Given the description of an element on the screen output the (x, y) to click on. 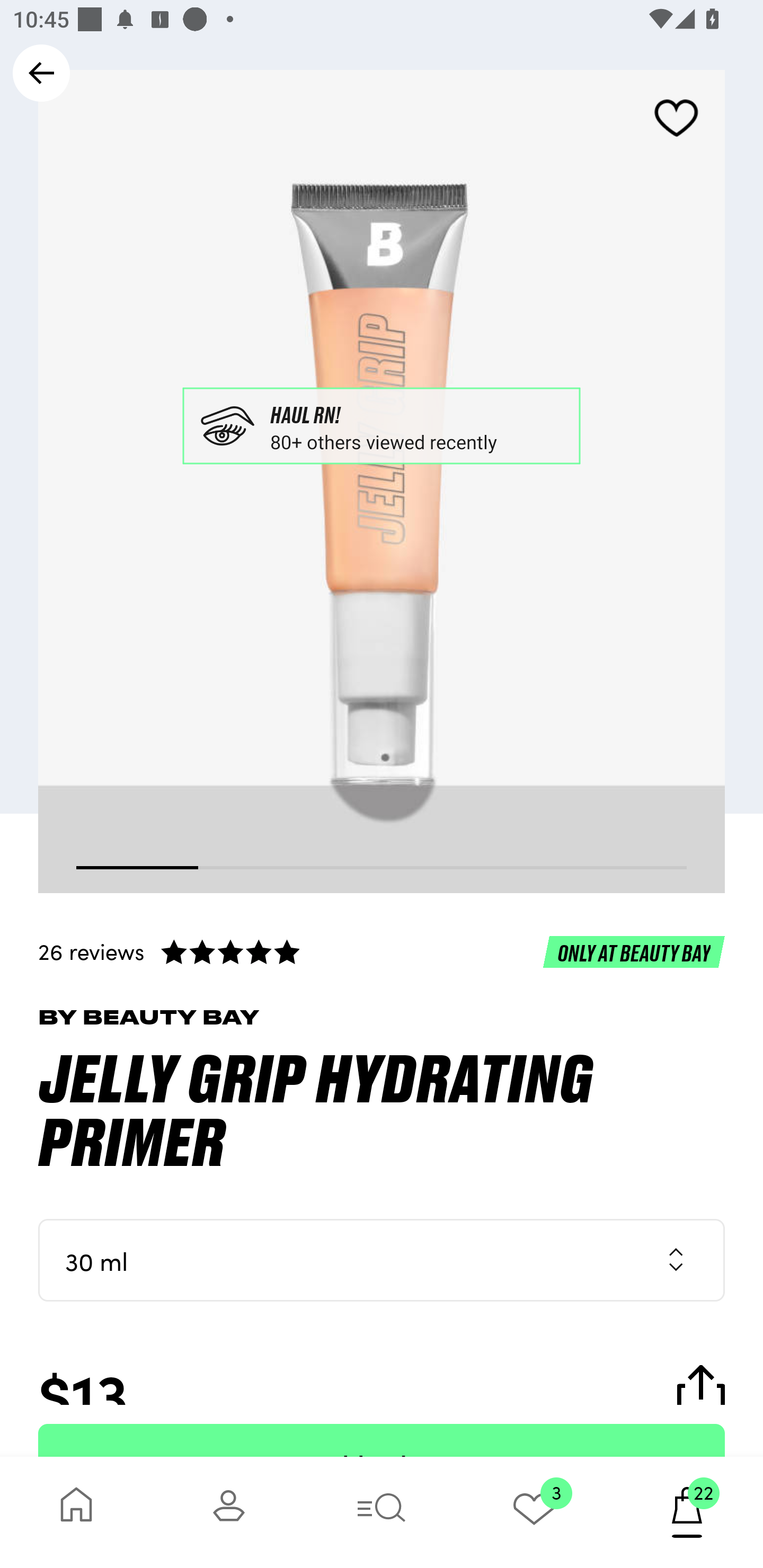
26 reviews (381, 950)
30 ml  (381, 1259)
3 (533, 1512)
22 (686, 1512)
